Given the description of an element on the screen output the (x, y) to click on. 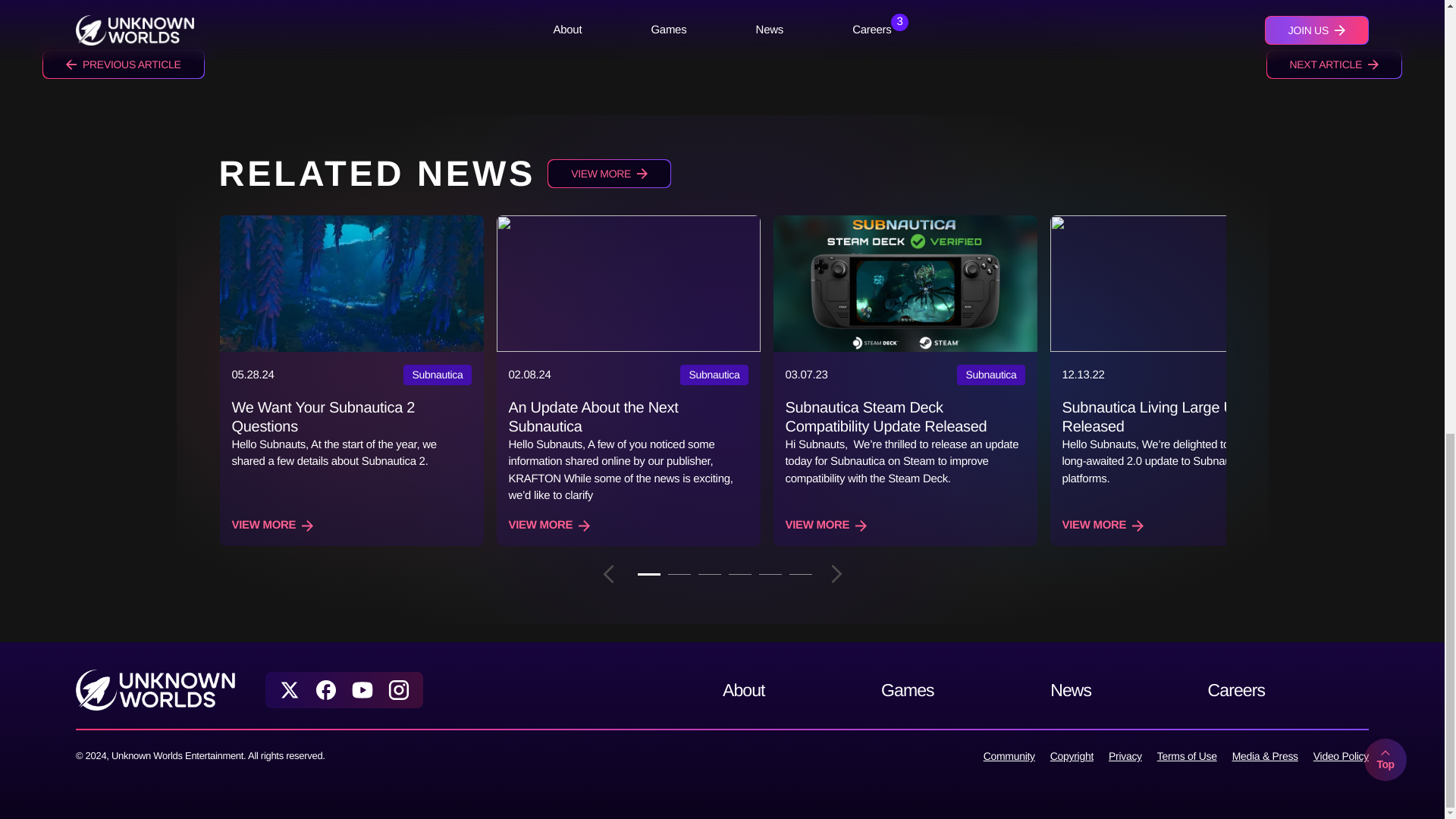
NEXT ARTICLE (1334, 63)
Subnautica (990, 374)
PREVIOUS ARTICLE (123, 63)
VIEW MORE (609, 173)
VIEW MORE (1101, 525)
VIEW MORE (826, 525)
Subnautica (713, 374)
Subnautica (436, 374)
VIEW MORE (548, 525)
VIEW MORE (272, 525)
